Given the description of an element on the screen output the (x, y) to click on. 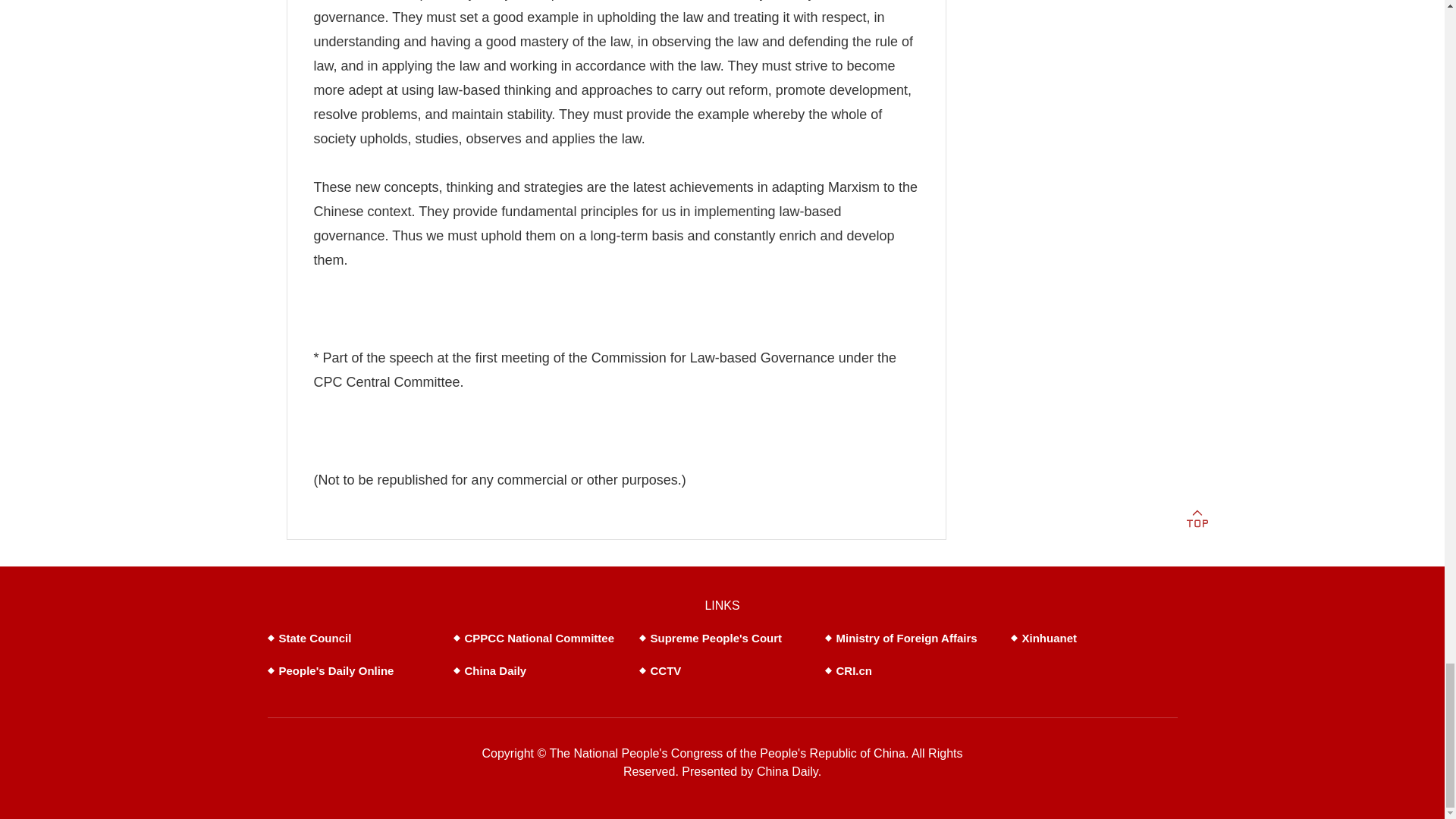
CPPCC National Committee (539, 637)
State Council (315, 637)
